Given the description of an element on the screen output the (x, y) to click on. 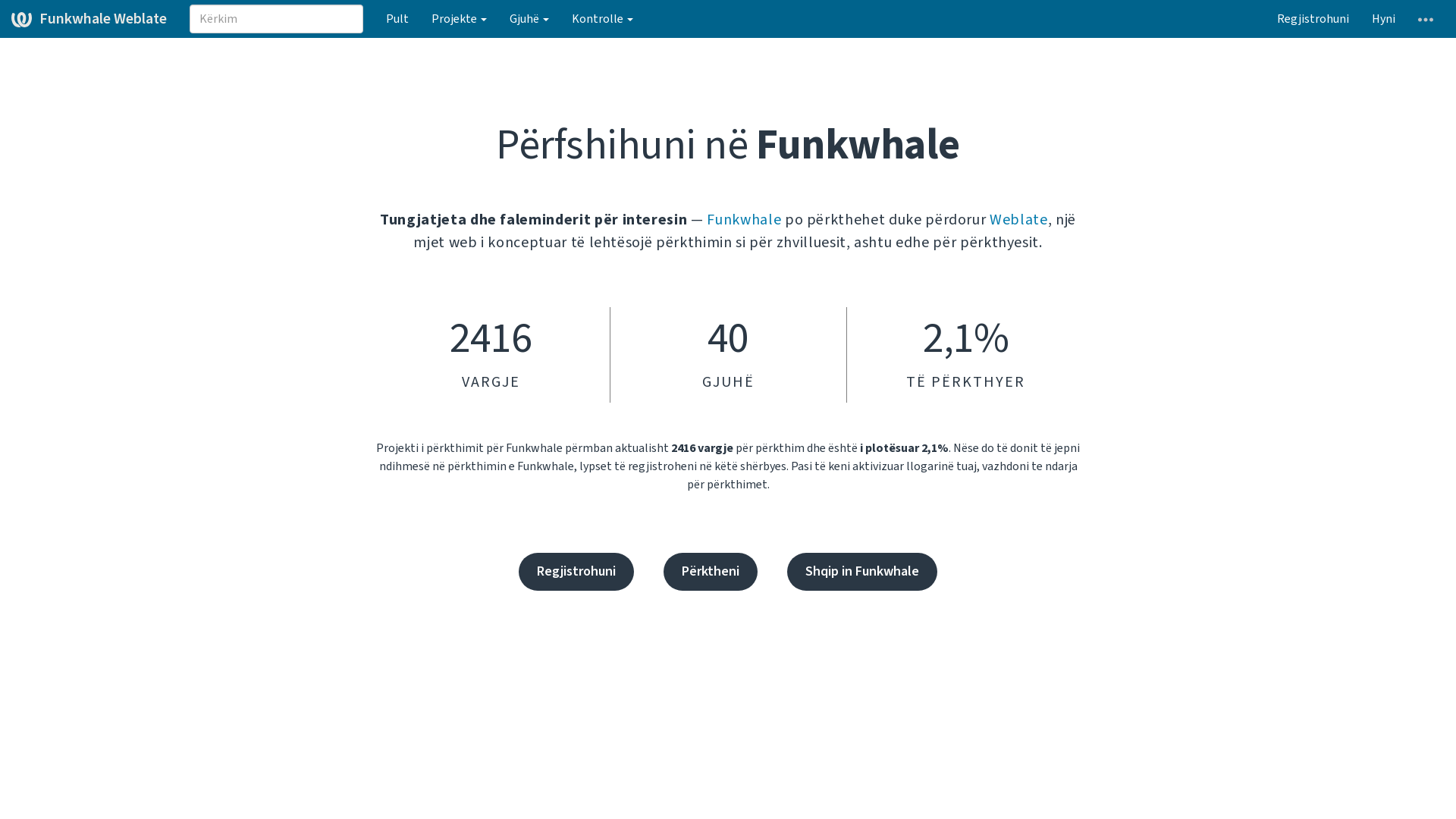
Regjistrohuni Element type: text (575, 571)
Pult Element type: text (397, 18)
Weblate Element type: text (1018, 219)
Kontrolle Element type: text (602, 18)
Funkwhale Element type: text (743, 219)
Regjistrohuni Element type: text (1312, 18)
Shqip in Funkwhale Element type: text (862, 571)
Funkwhale Weblate Element type: text (89, 18)
Hyni Element type: text (1383, 18)
Projekte Element type: text (459, 18)
